Given the description of an element on the screen output the (x, y) to click on. 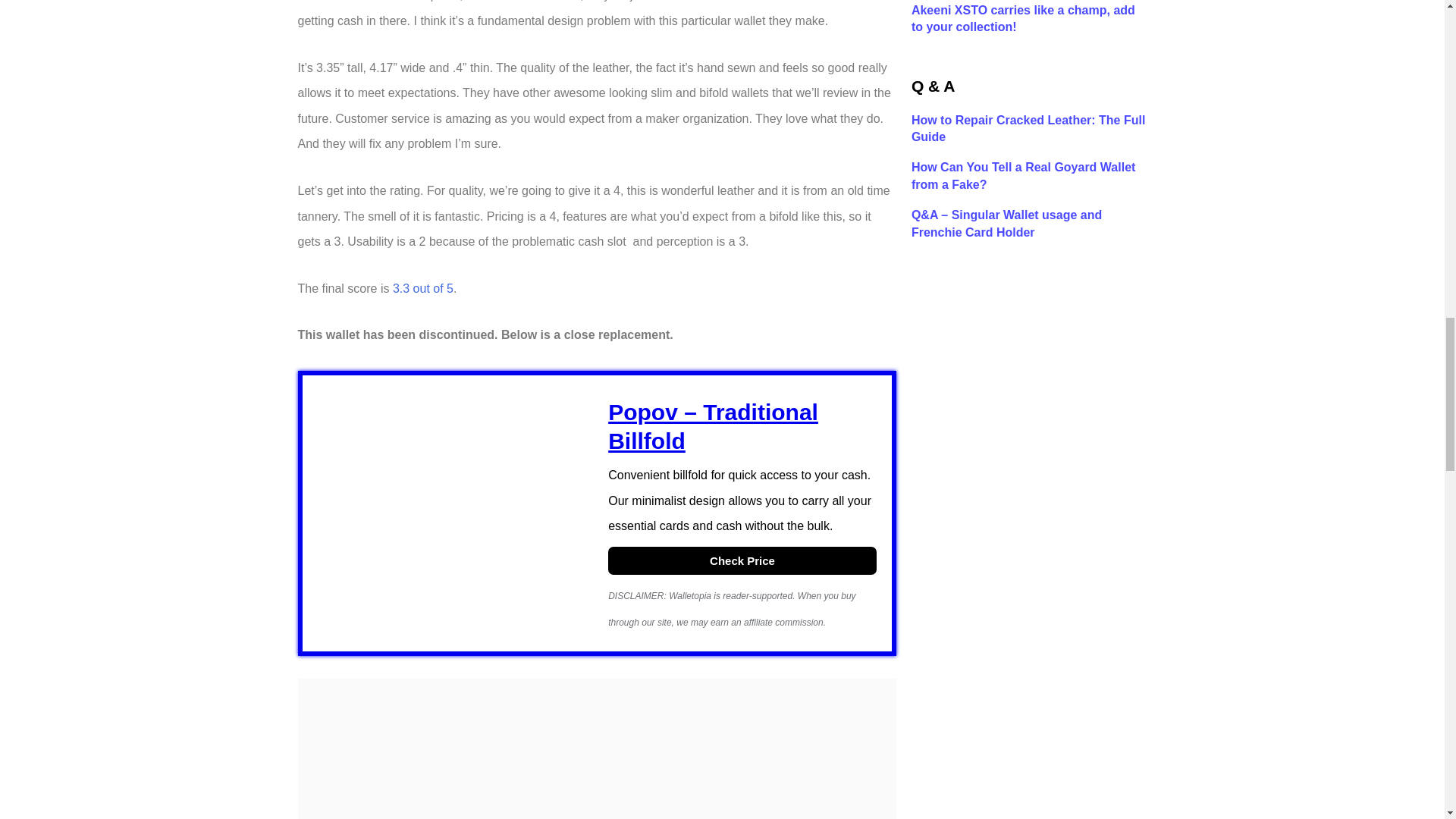
3.3 out of 5 (422, 287)
Check Price (742, 560)
